Given the description of an element on the screen output the (x, y) to click on. 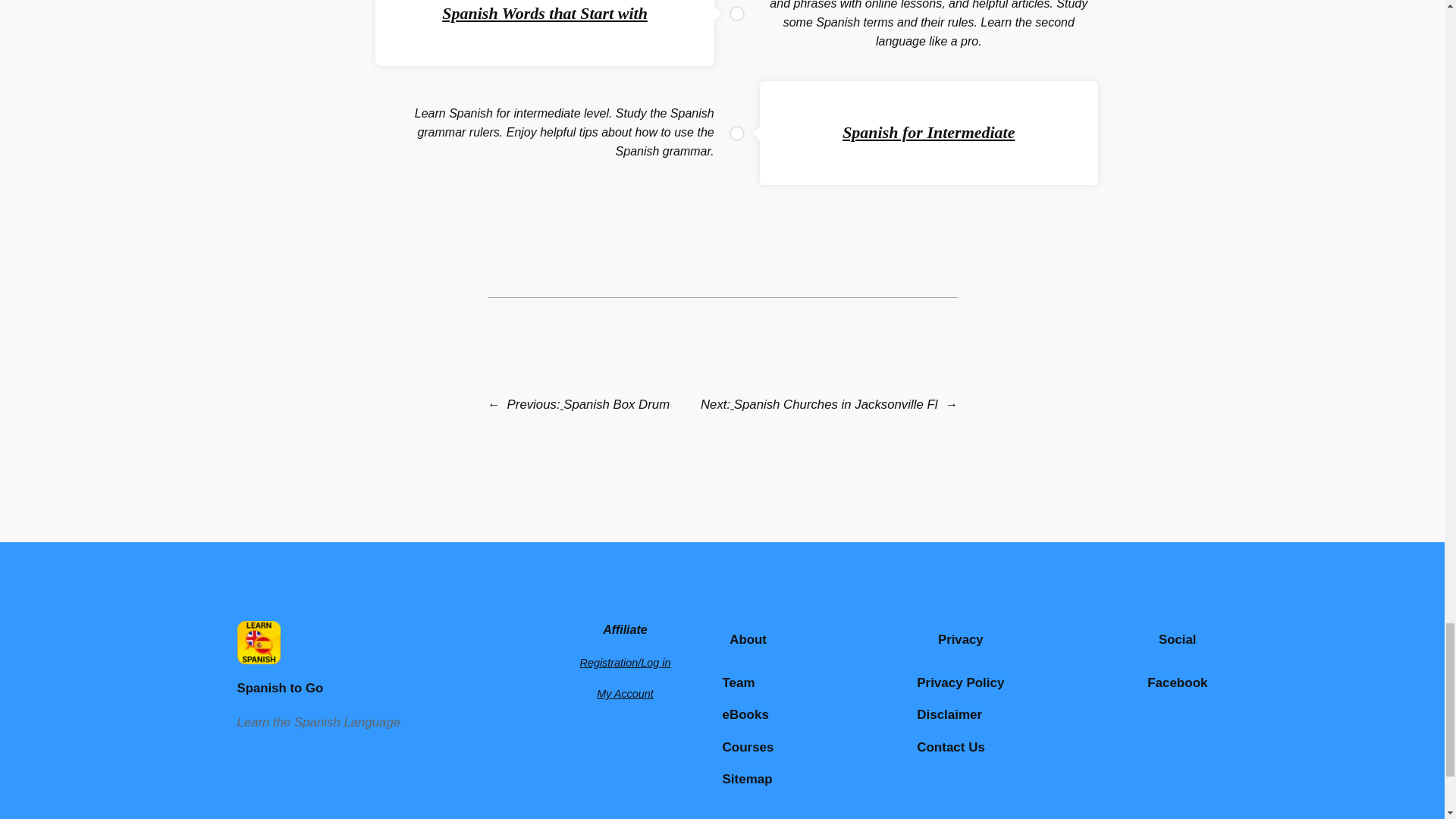
Spanish Words that Start with (544, 13)
Spanish to Go (279, 687)
Spanish for Intermediate (928, 131)
Next: Spanish Churches in Jacksonville Fl (818, 404)
Previous: Spanish Box Drum (587, 404)
